Given the description of an element on the screen output the (x, y) to click on. 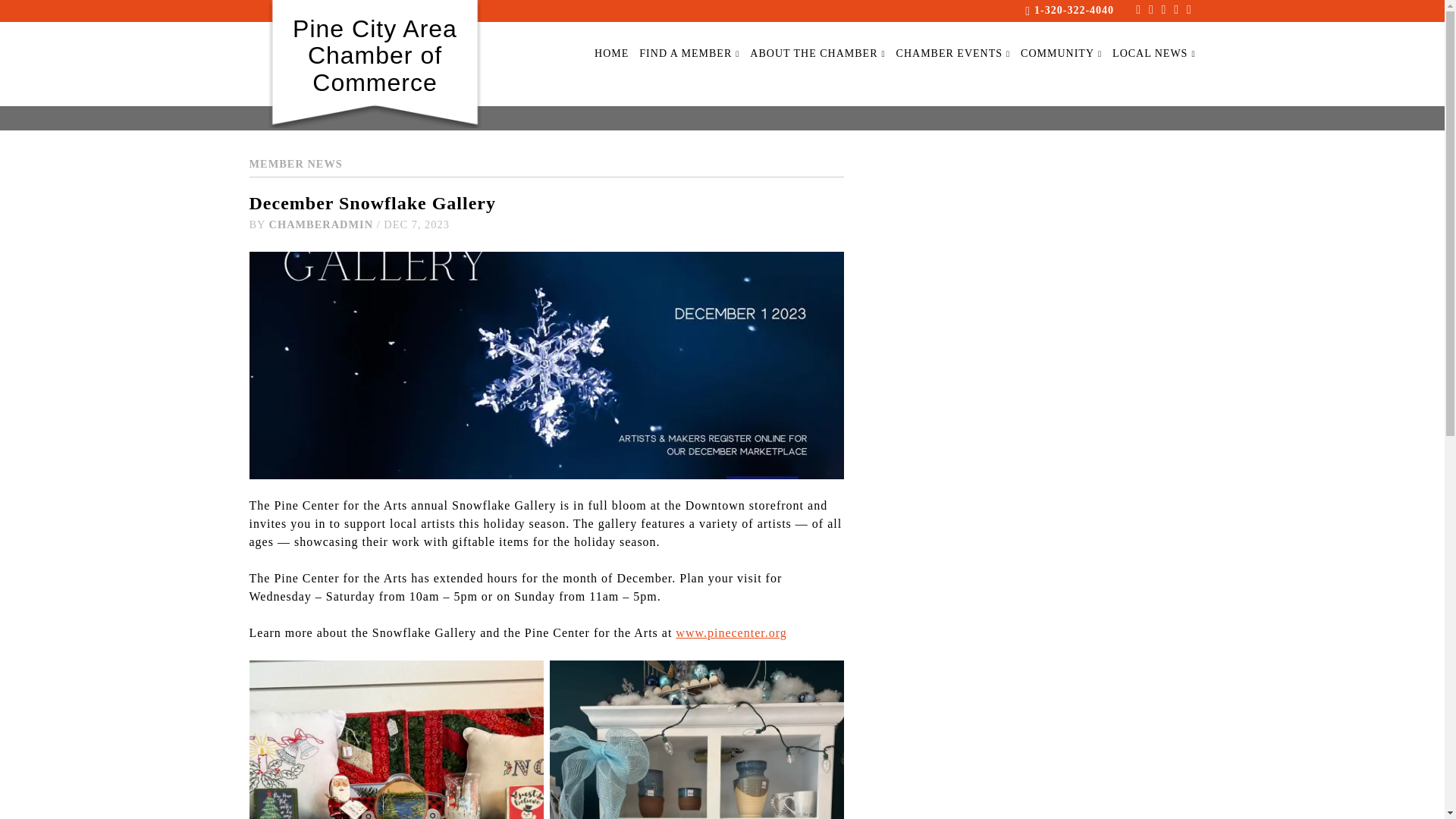
MEMBER NEWS (295, 163)
CHAMBER EVENTS (953, 53)
www.pinecenter.org (730, 632)
Pine City Area Chamber of Commerce (373, 55)
1-320-322-4040 (1073, 9)
CHAMBERADMIN (321, 224)
FIND A MEMBER (689, 53)
ABOUT THE CHAMBER (817, 53)
LOCAL NEWS (1153, 53)
COMMUNITY (1061, 53)
